Given the description of an element on the screen output the (x, y) to click on. 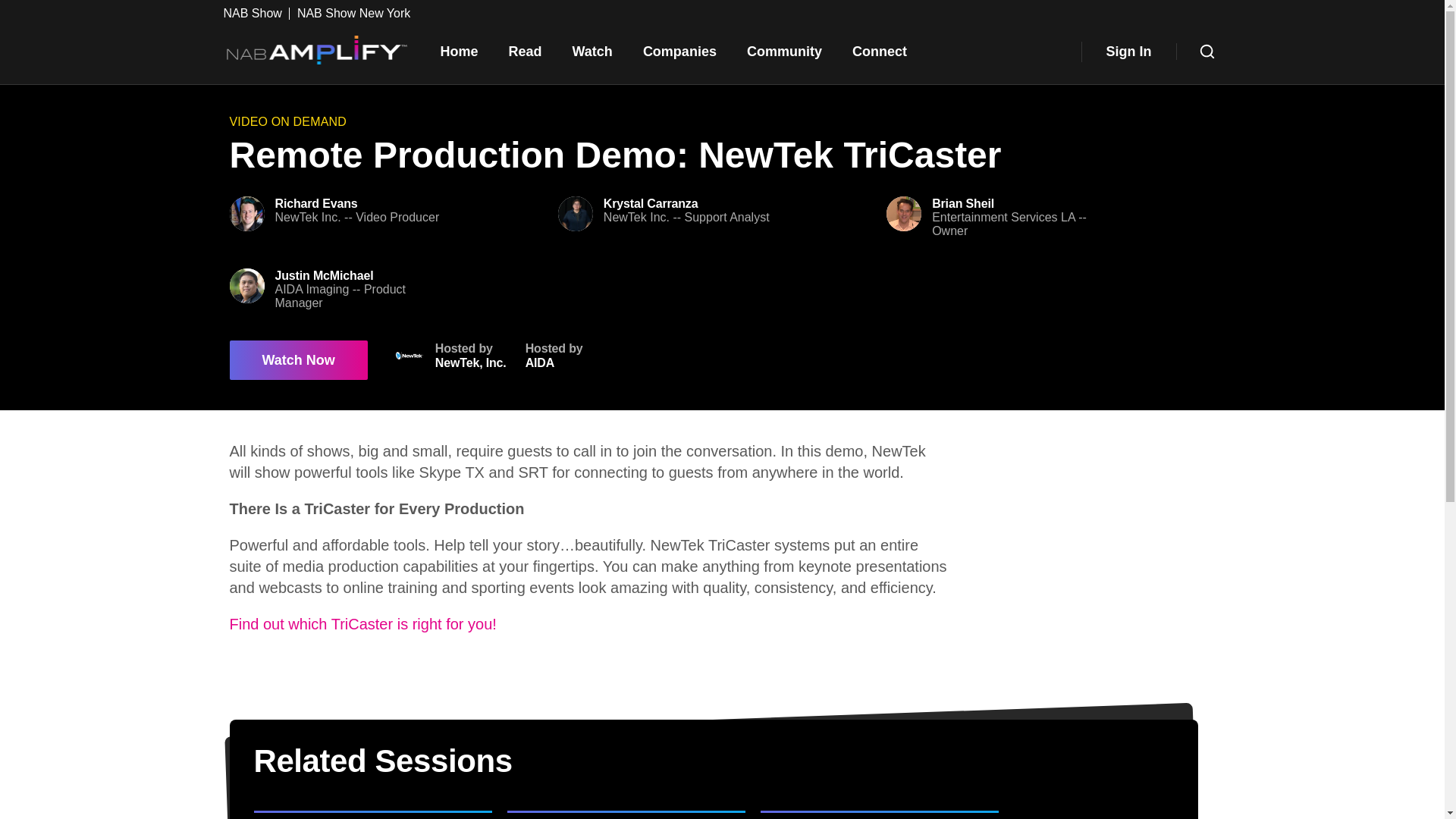
Read (525, 51)
Watch (592, 51)
Companies (679, 51)
Watch Now (297, 360)
NAB Show New York (353, 13)
Home (459, 51)
Community (554, 355)
NAB Show (784, 51)
Sign In (255, 13)
Search (1128, 51)
Find out which TriCaster is right for you! (1206, 51)
